Given the description of an element on the screen output the (x, y) to click on. 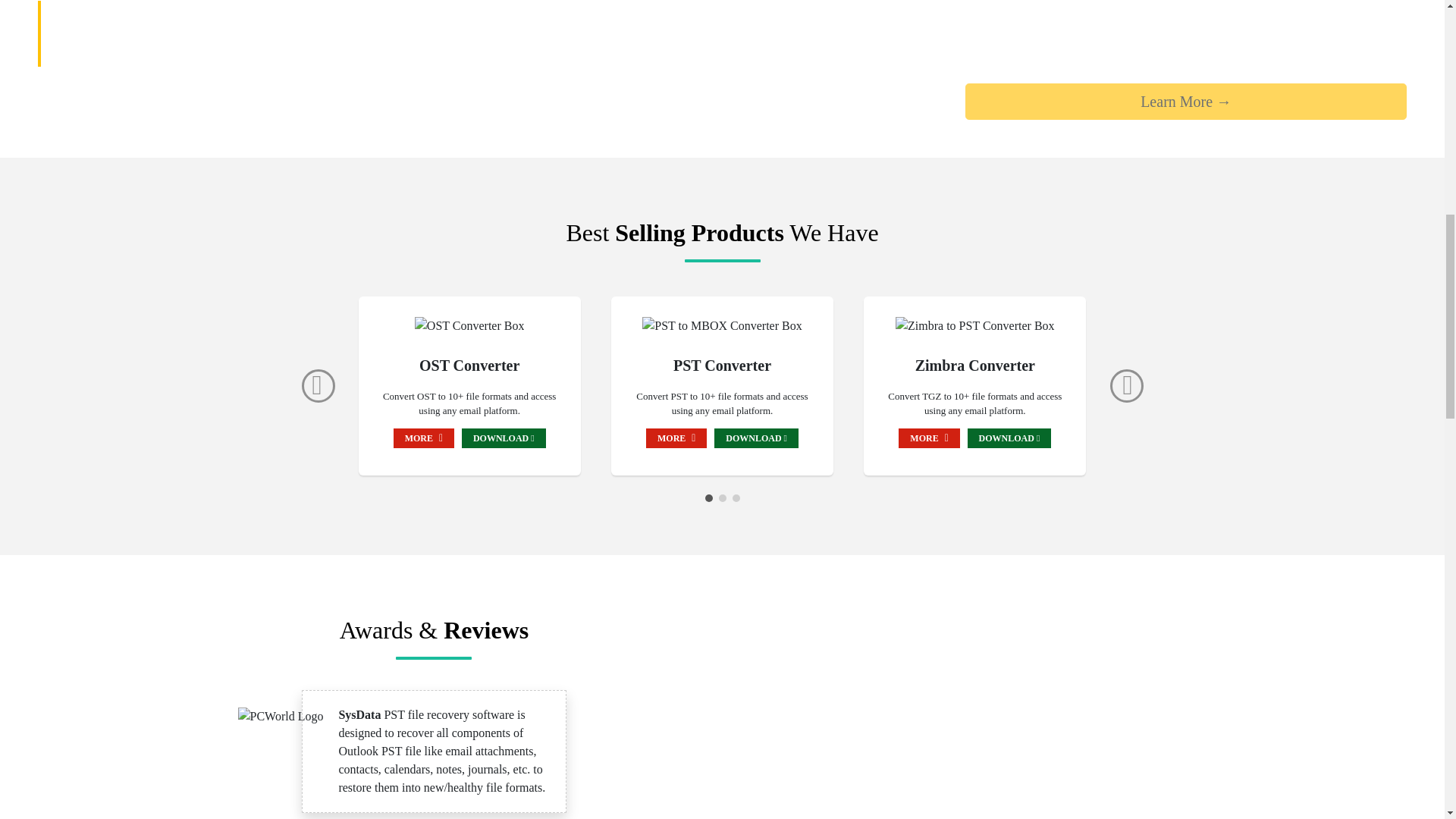
MORE (676, 437)
SysData PST to MBOX Converter (722, 325)
DOWNLOAD (503, 437)
MORE (928, 437)
DOWNLOAD (1009, 437)
DOWNLOAD (755, 437)
SysData OST Converter (469, 325)
MORE (423, 437)
SysData Zimbra to PST Converter (974, 325)
